Given the description of an element on the screen output the (x, y) to click on. 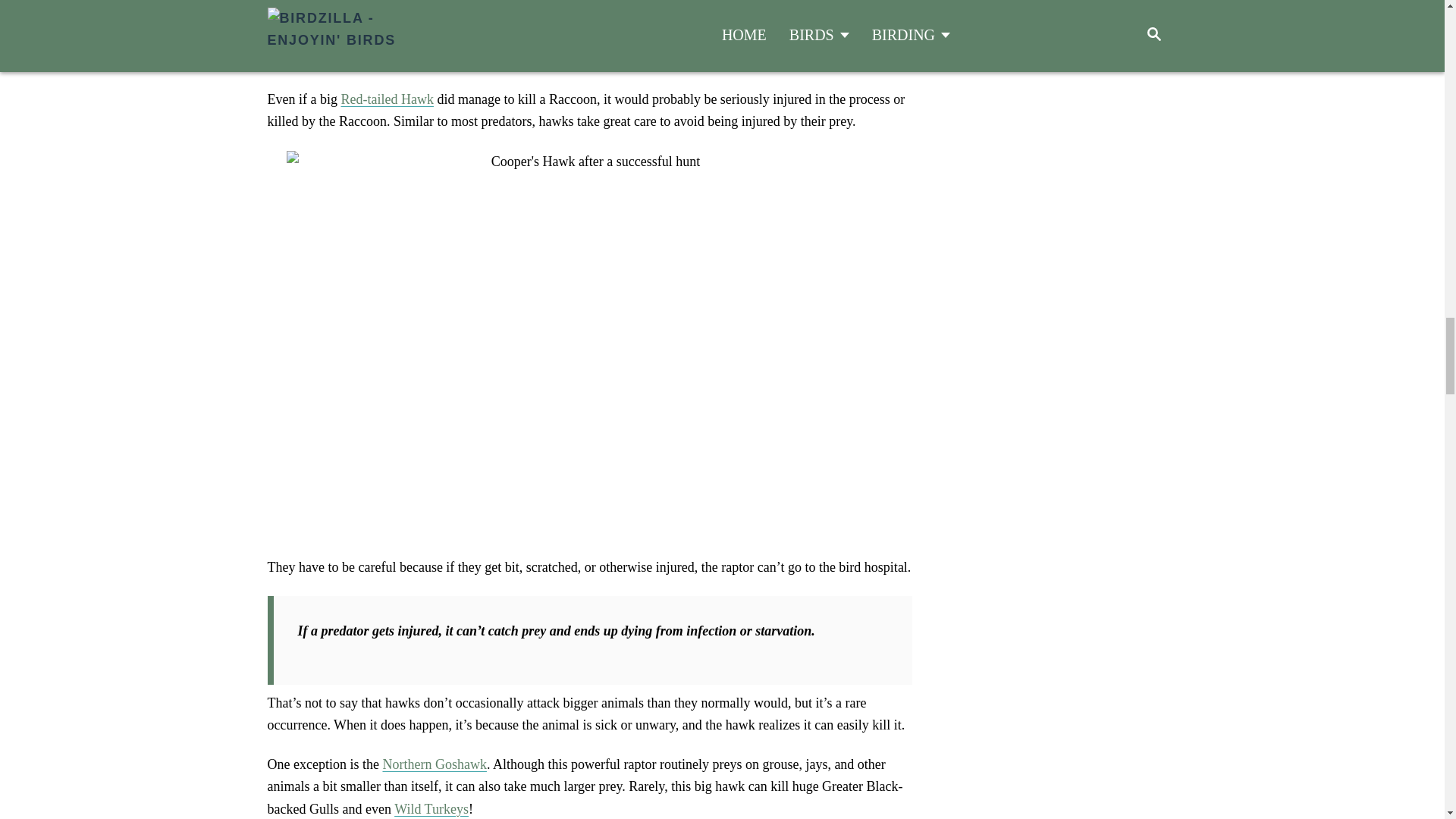
Northern Goshawk (433, 764)
Red-tailed Hawk (386, 99)
